Given the description of an element on the screen output the (x, y) to click on. 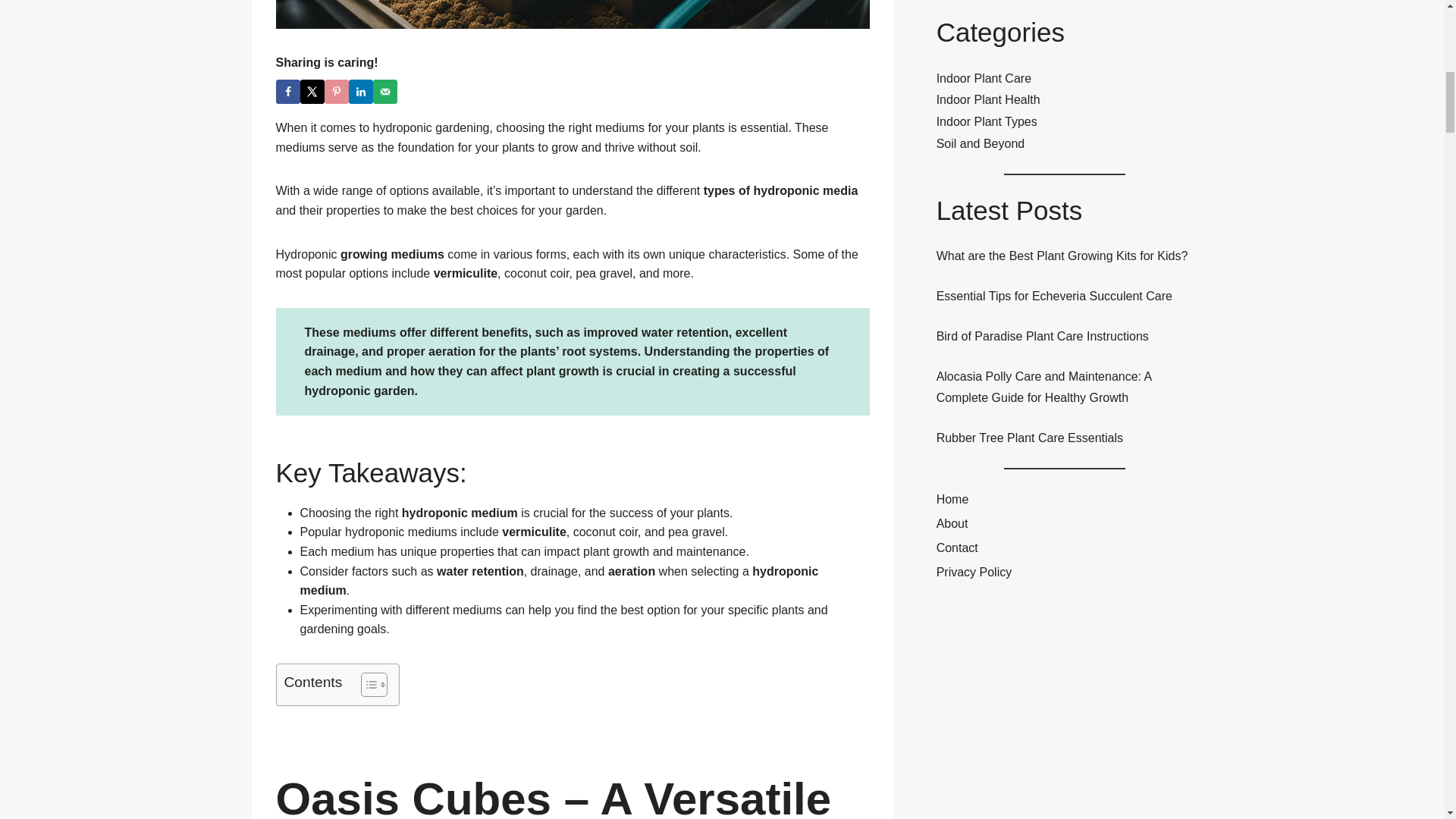
Save to Pinterest (336, 91)
Share on LinkedIn (360, 91)
Share on Facebook (287, 91)
Share on X (311, 91)
Send over email (384, 91)
